Given the description of an element on the screen output the (x, y) to click on. 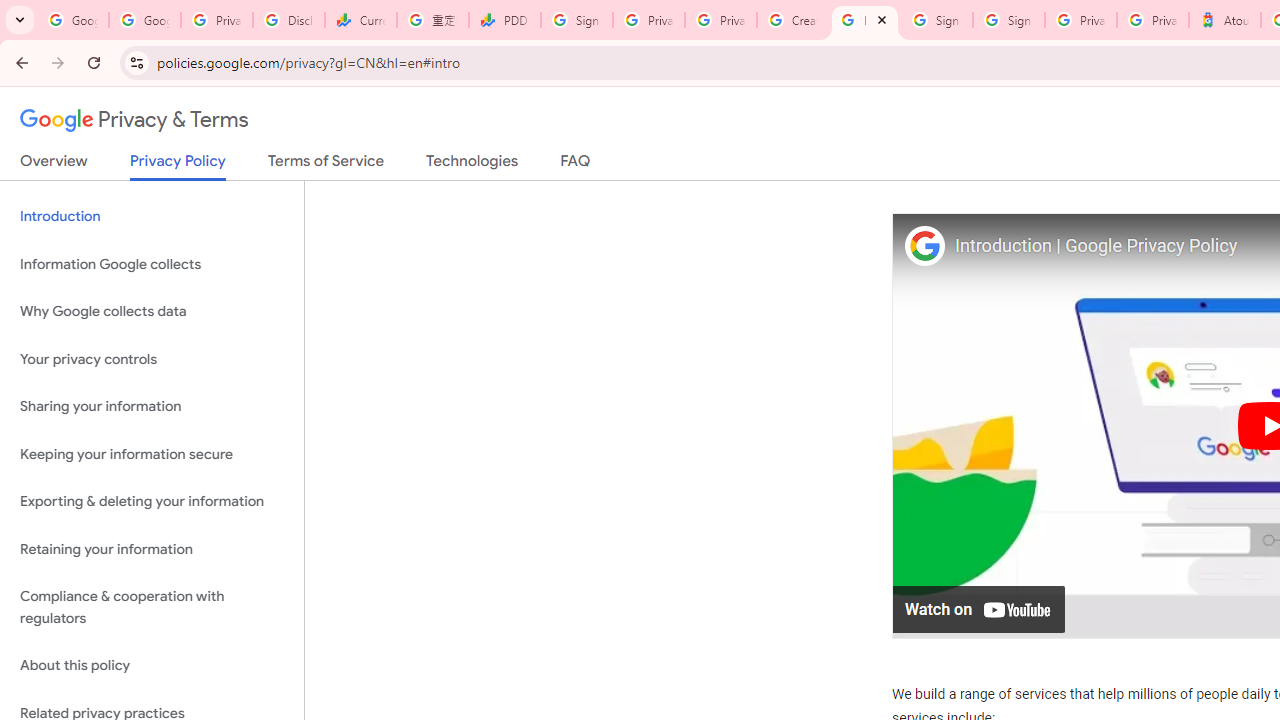
Google Workspace Admin Community (72, 20)
Photo image of Google (924, 244)
Atour Hotel - Google hotels (1224, 20)
